Given the description of an element on the screen output the (x, y) to click on. 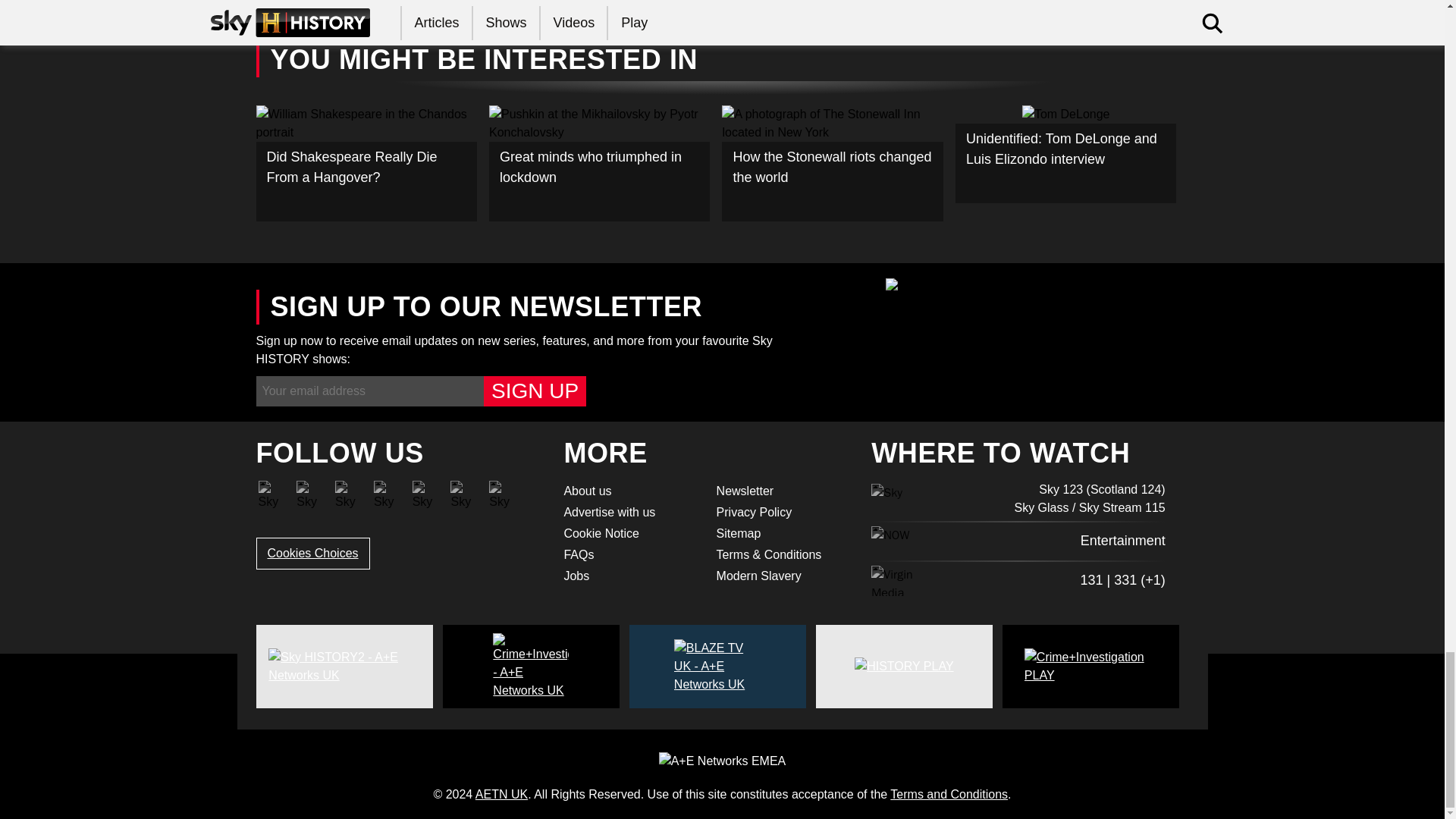
About us (630, 491)
Unidentified: Tom DeLonge and Luis Elizondo interview (1065, 154)
HISTORY Newsletter (783, 491)
Advertise with us (630, 512)
Great minds who triumphed in lockdown (599, 163)
Sign Up (534, 390)
Sitemap of the site (783, 533)
Sign Up (534, 390)
Did Shakespeare Really Die From a Hangover? (366, 163)
How the Stonewall riots changed the world (832, 163)
Cookies Choices (312, 553)
